Given the description of an element on the screen output the (x, y) to click on. 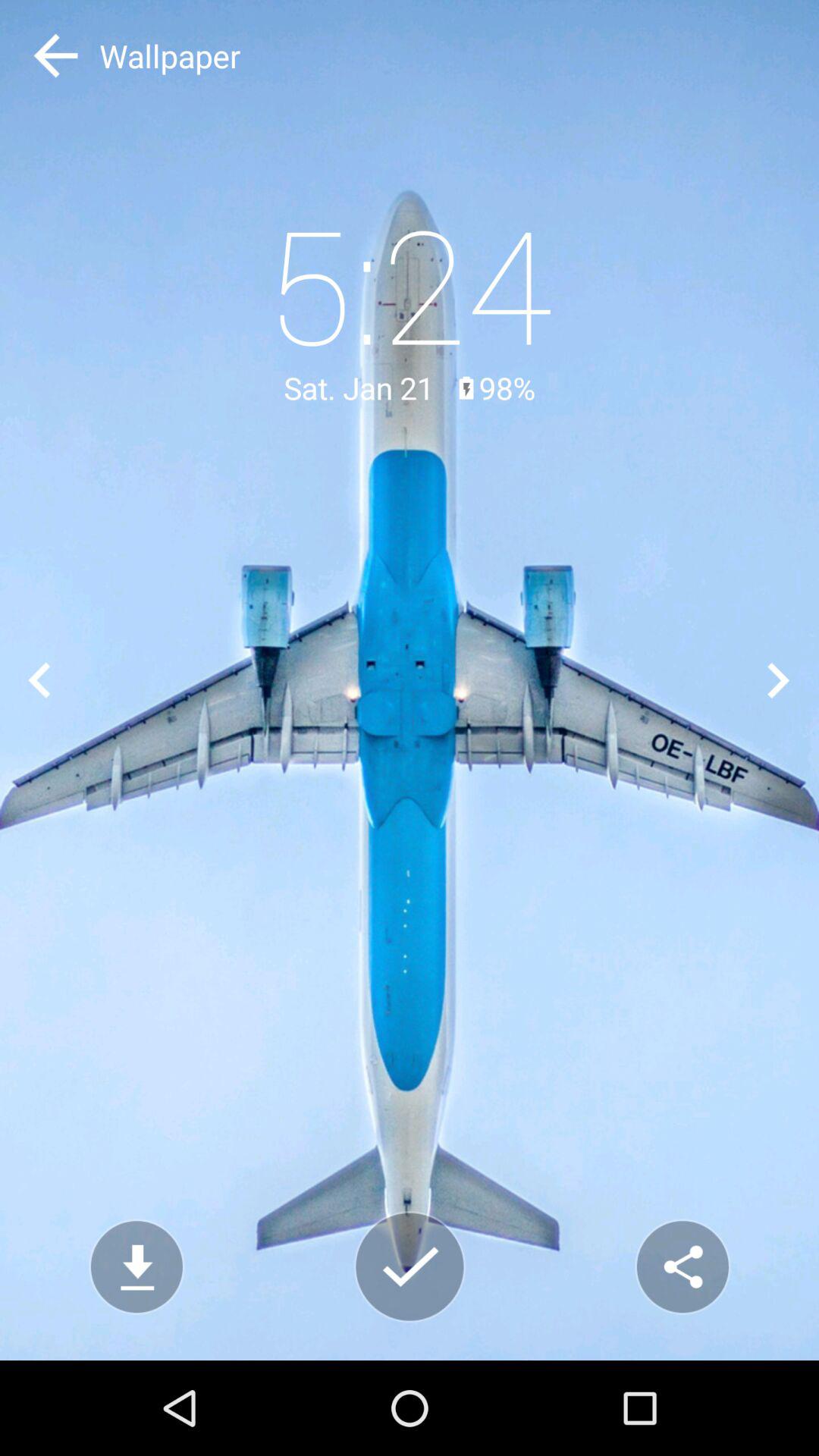
down load option (136, 1266)
